Given the description of an element on the screen output the (x, y) to click on. 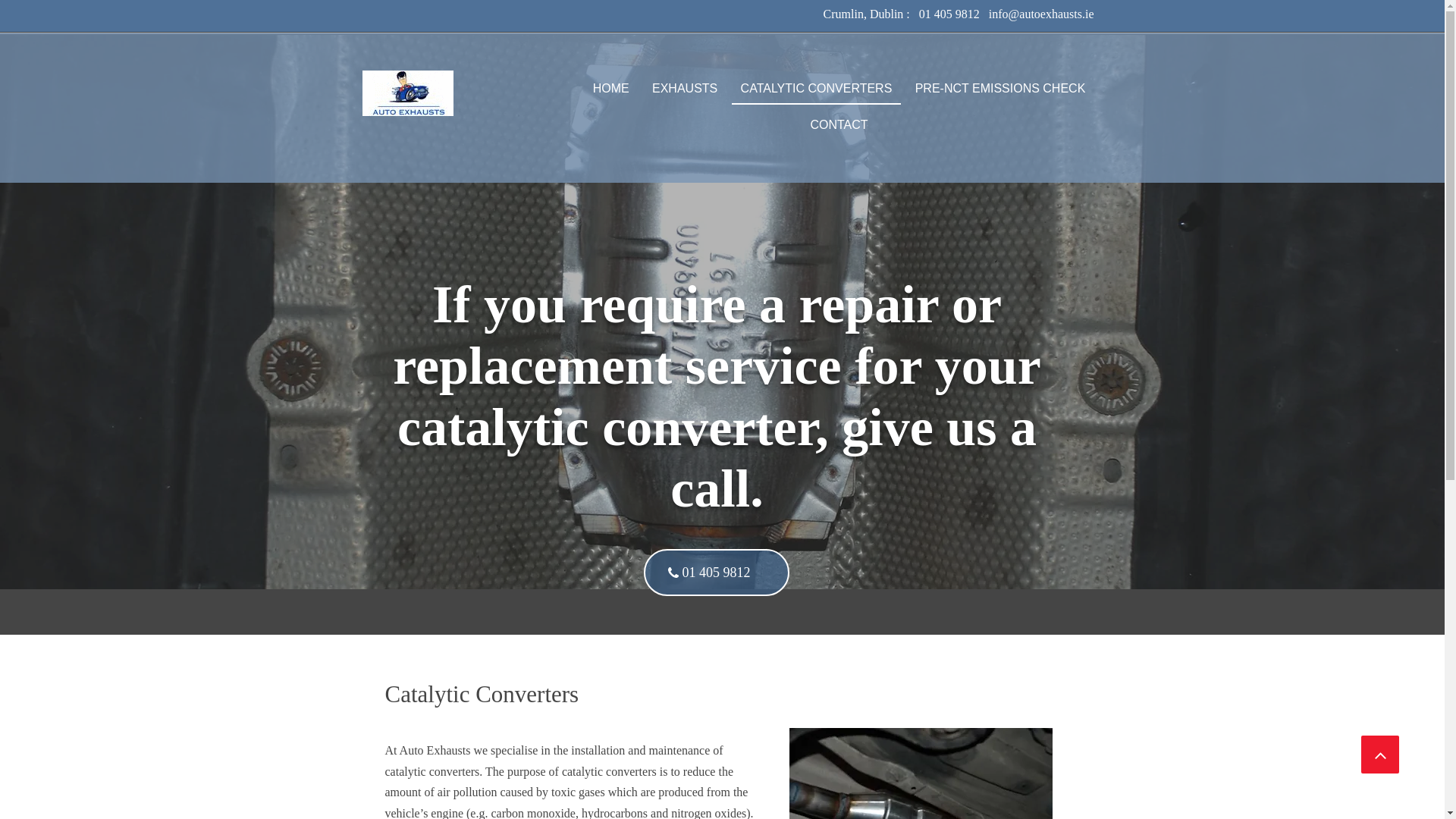
01 405 9812 (948, 13)
01 405 9812 (716, 572)
PRE-NCT EMISSIONS CHECK (1000, 89)
CATALYTIC CONVERTERS (815, 89)
CONTACT (838, 125)
HOME (610, 89)
EXHAUSTS (684, 89)
